Given the description of an element on the screen output the (x, y) to click on. 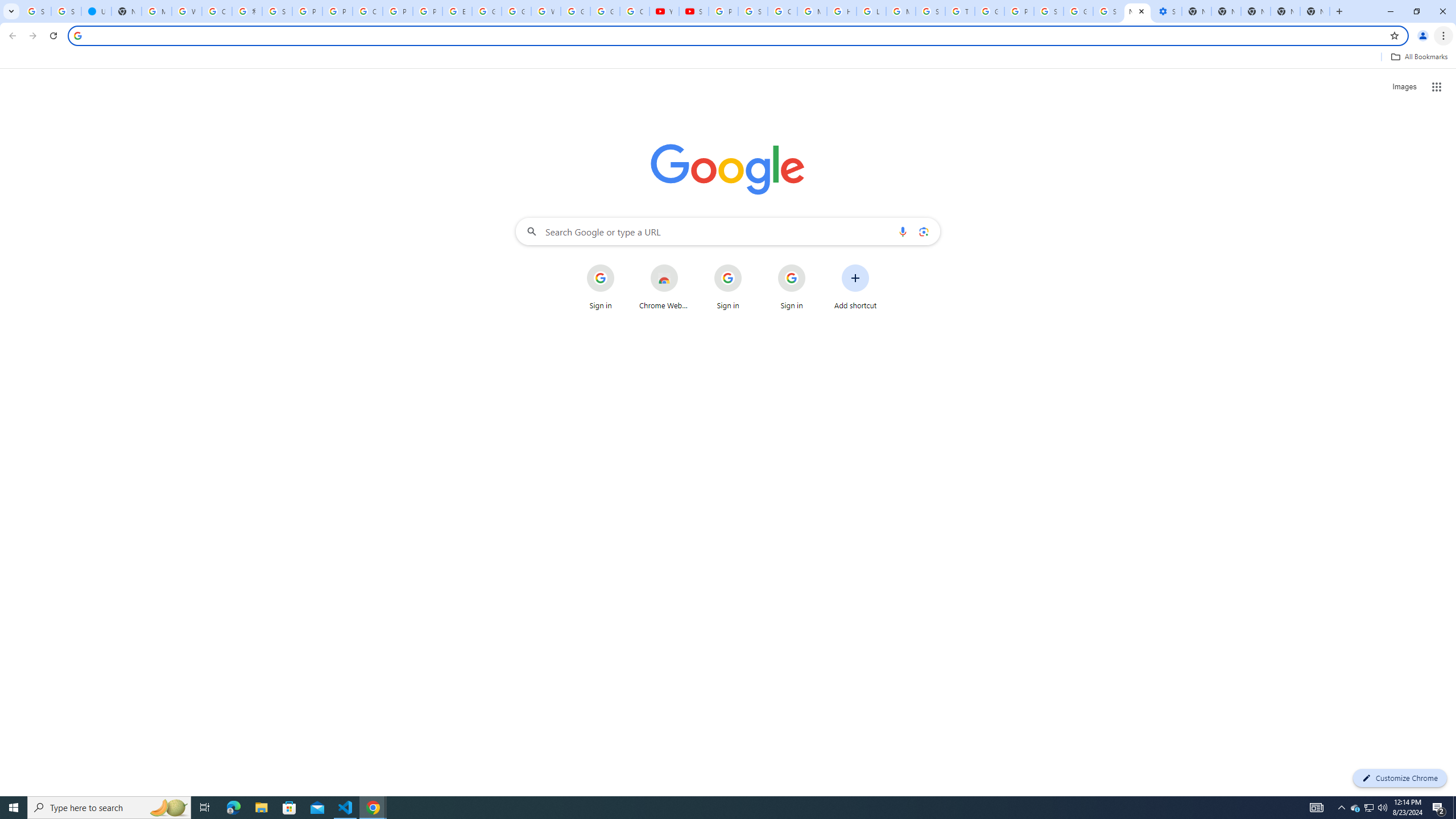
Trusted Information and Content - Google Safety Center (959, 11)
Chrome Web Store (663, 287)
Who is my administrator? - Google Account Help (185, 11)
Welcome to My Activity (545, 11)
New Tab (1314, 11)
Google Ads - Sign in (989, 11)
